Given the description of an element on the screen output the (x, y) to click on. 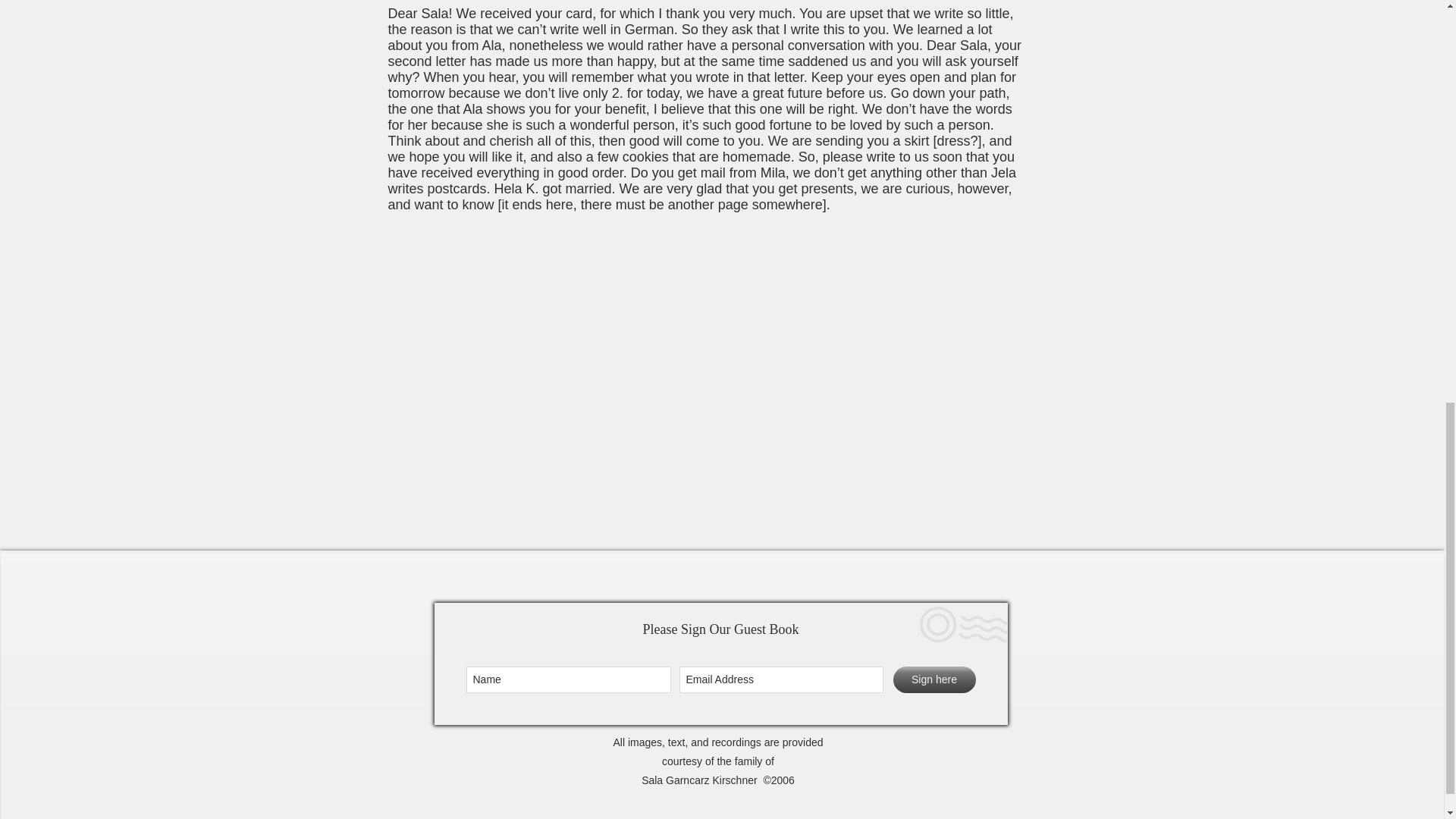
Sign here (934, 679)
